Given the description of an element on the screen output the (x, y) to click on. 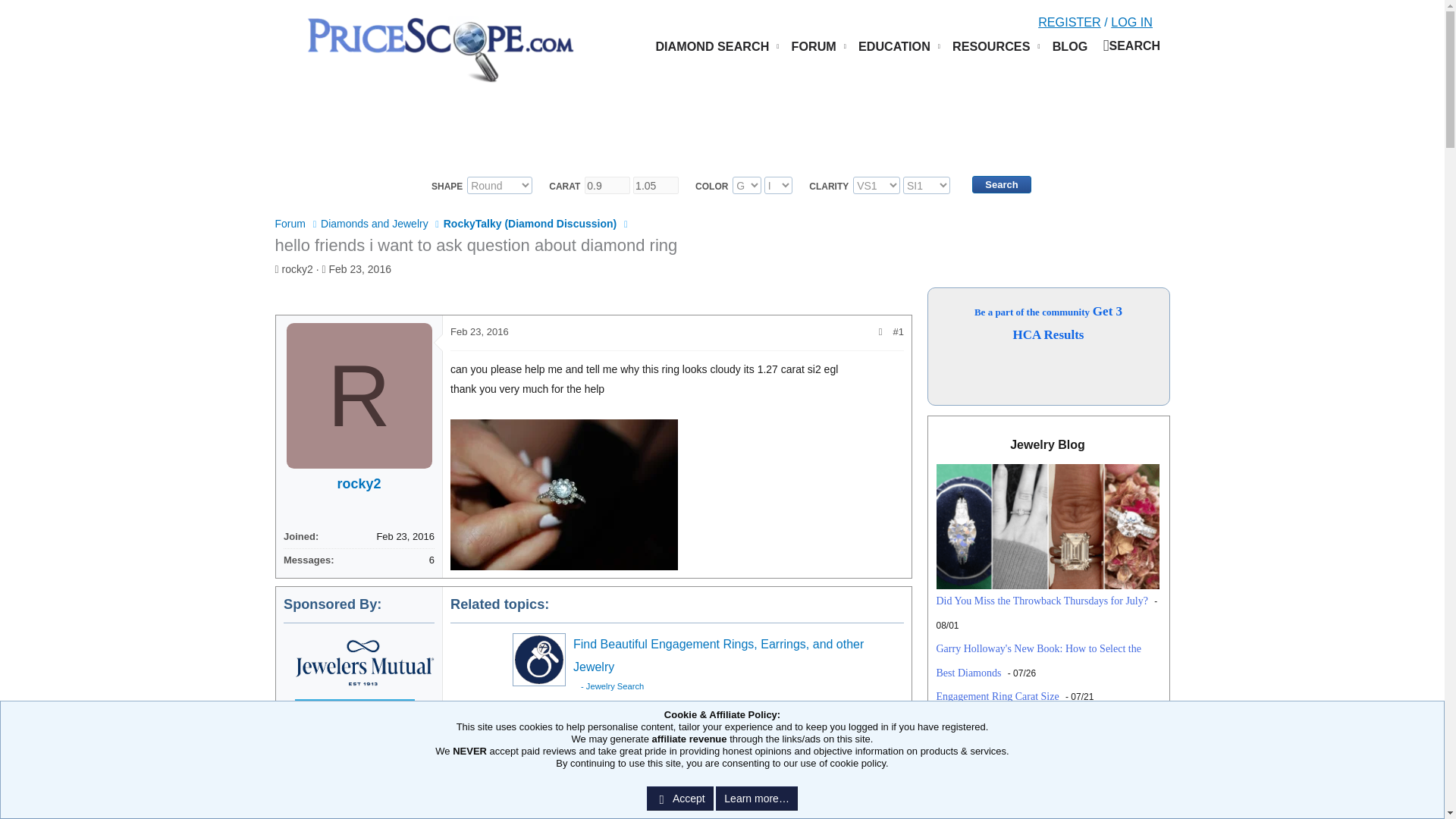
Search (1131, 45)
LOG IN (1131, 21)
0.9 (607, 185)
Search (1001, 184)
Feb 23, 2016 at 6:33 AM (478, 331)
DIAMOND SEARCH (716, 46)
FORUM (817, 46)
Search (1001, 184)
Feb 23, 2016 at 6:33 AM (360, 268)
REGISTER (1069, 21)
